Given the description of an element on the screen output the (x, y) to click on. 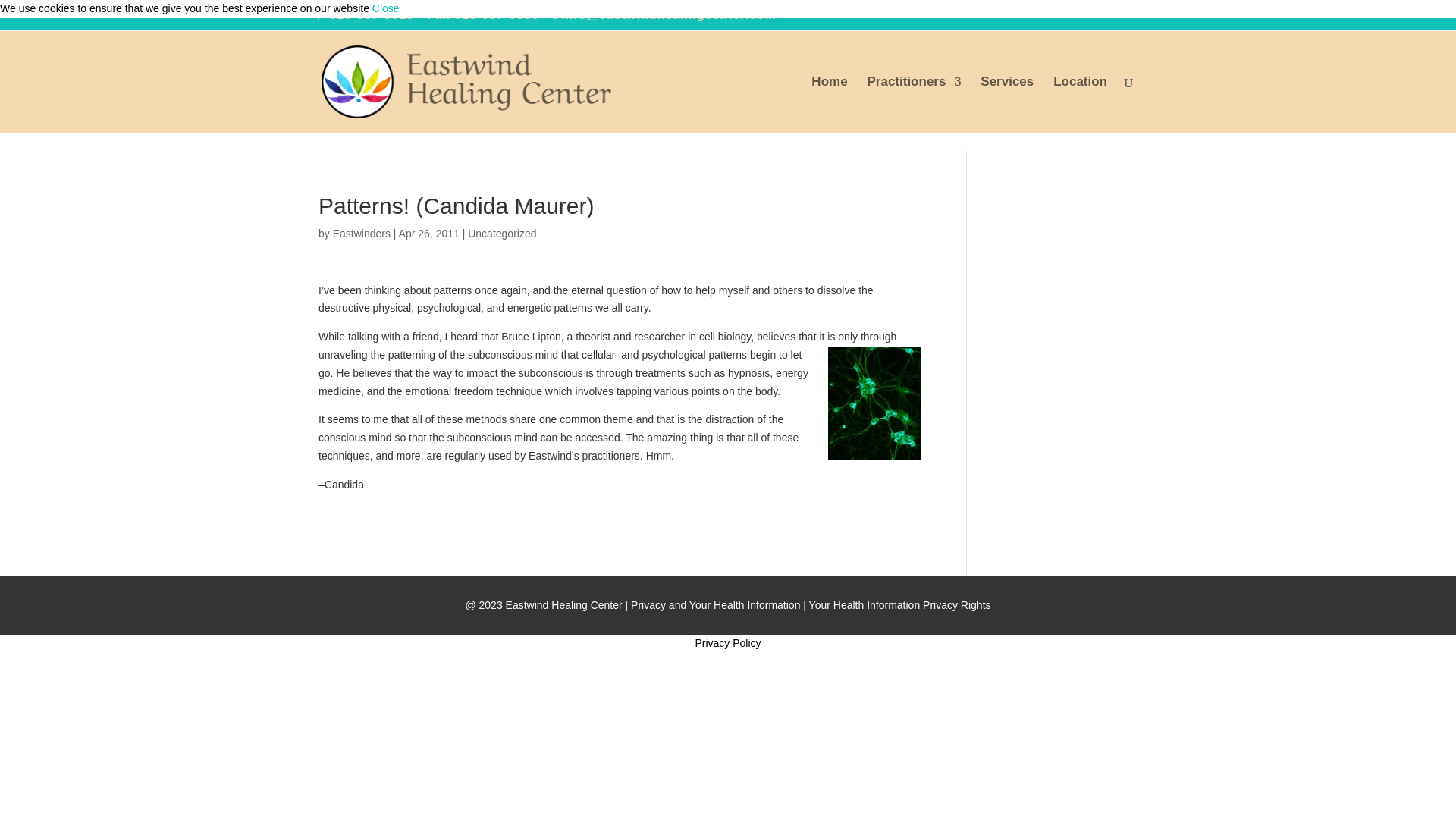
Practitioners (913, 104)
Services (1006, 104)
Posts by Eastwinders (361, 233)
Location (1079, 104)
Close (385, 8)
